Given the description of an element on the screen output the (x, y) to click on. 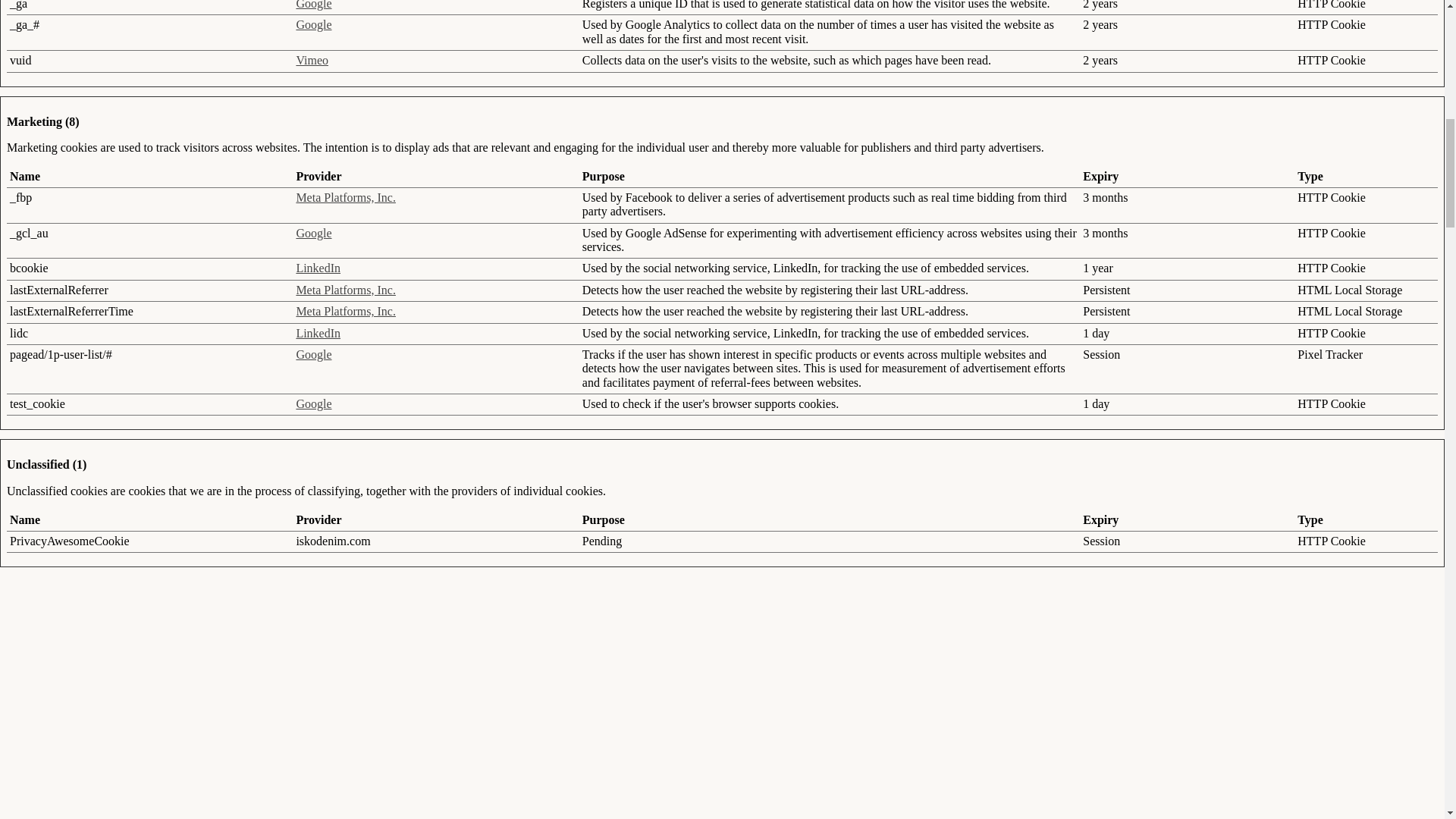
LinkedIn's privacy policy (317, 332)
LinkedIn's privacy policy (317, 267)
 Meta Platforms, Inc.'s privacy policy (345, 196)
Google (313, 4)
Google (313, 232)
Google (313, 354)
Google's privacy policy (313, 354)
 Meta Platforms, Inc.'s privacy policy (345, 310)
Google's privacy policy (313, 4)
Meta Platforms, Inc. (345, 310)
